Given the description of an element on the screen output the (x, y) to click on. 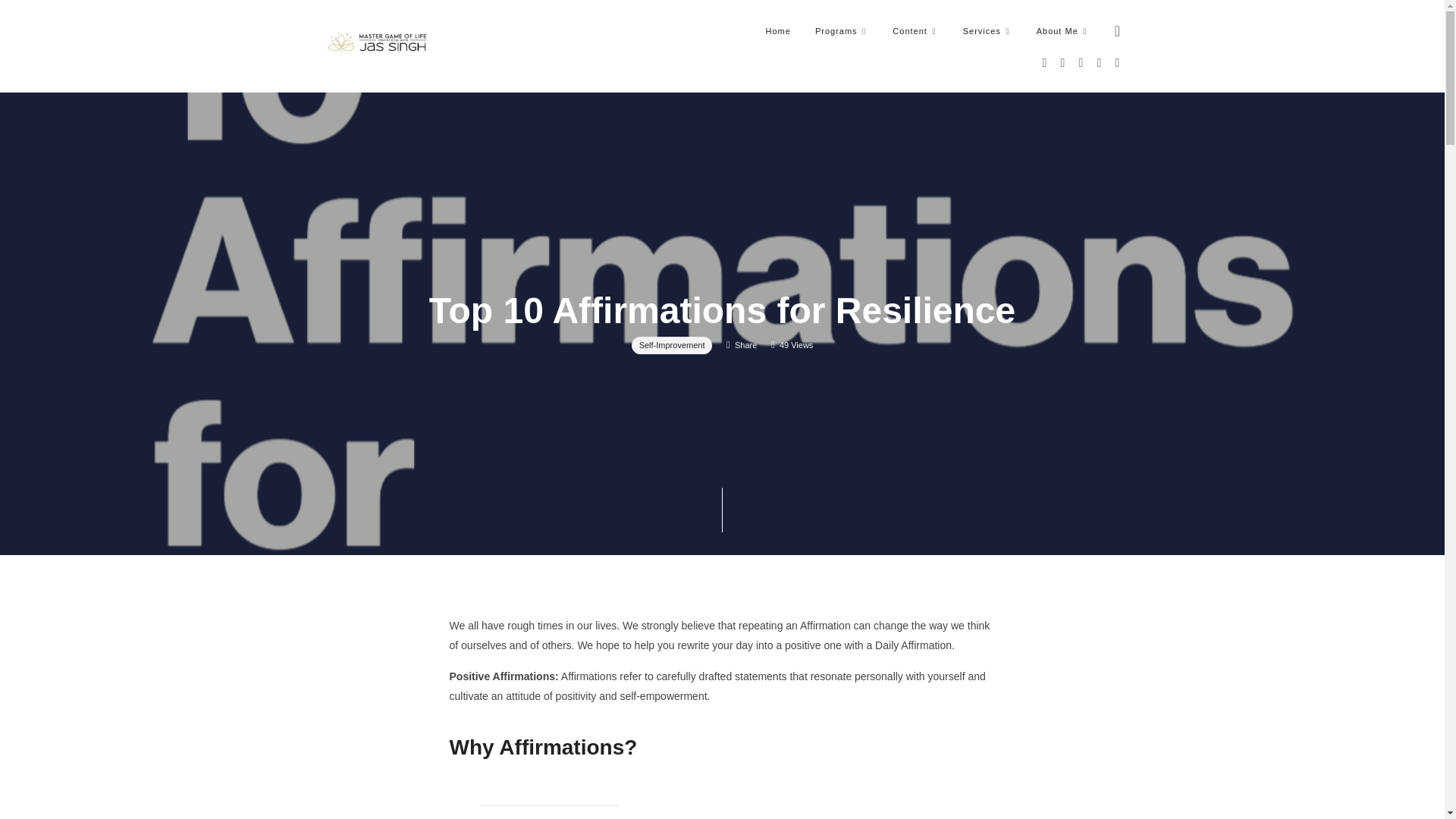
Services (987, 31)
Programs (841, 31)
Home (777, 31)
Content (915, 31)
About Me (1063, 31)
